Given the description of an element on the screen output the (x, y) to click on. 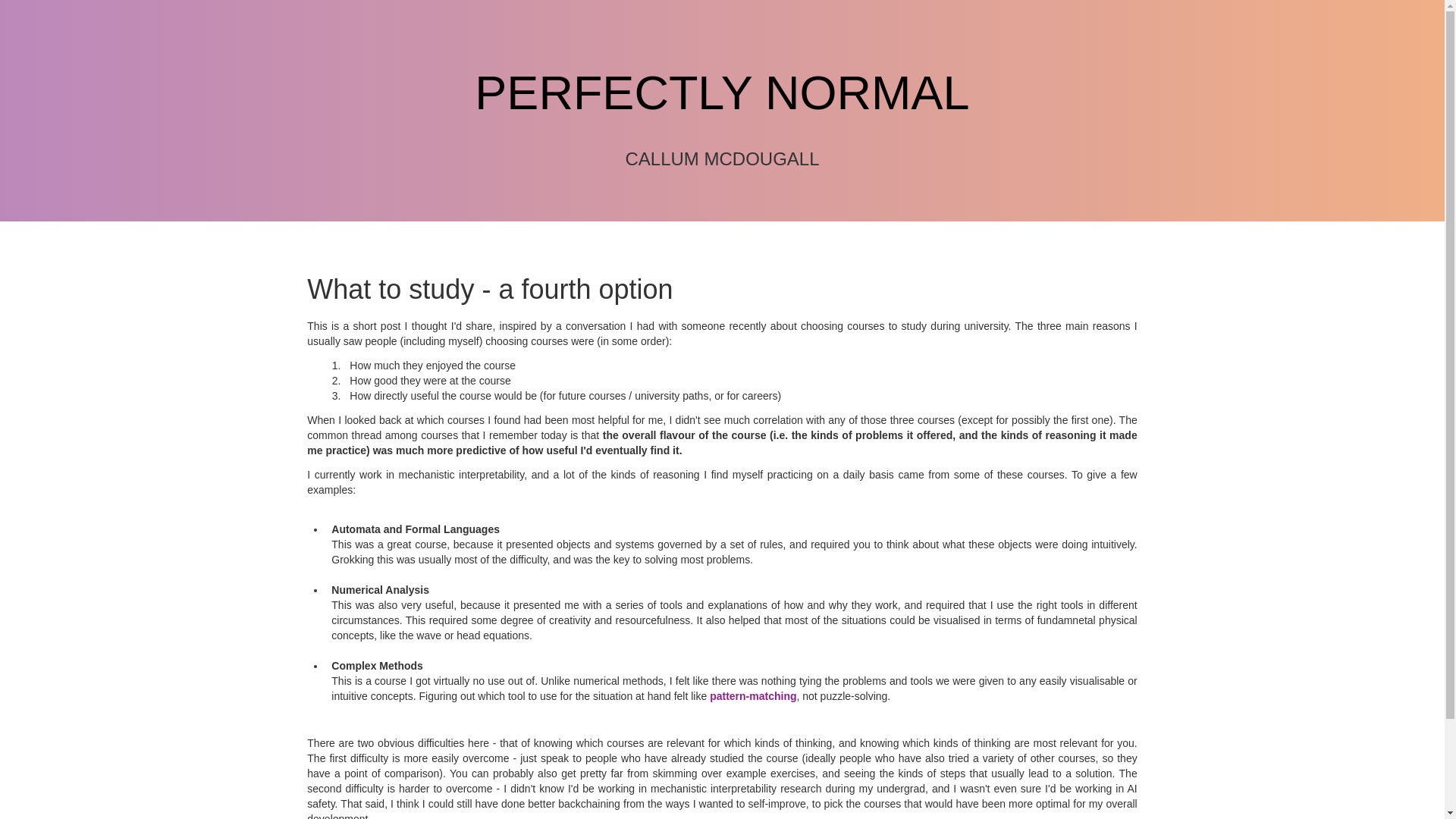
pattern-matching (753, 695)
PERFECTLY NORMAL (721, 92)
